Given the description of an element on the screen output the (x, y) to click on. 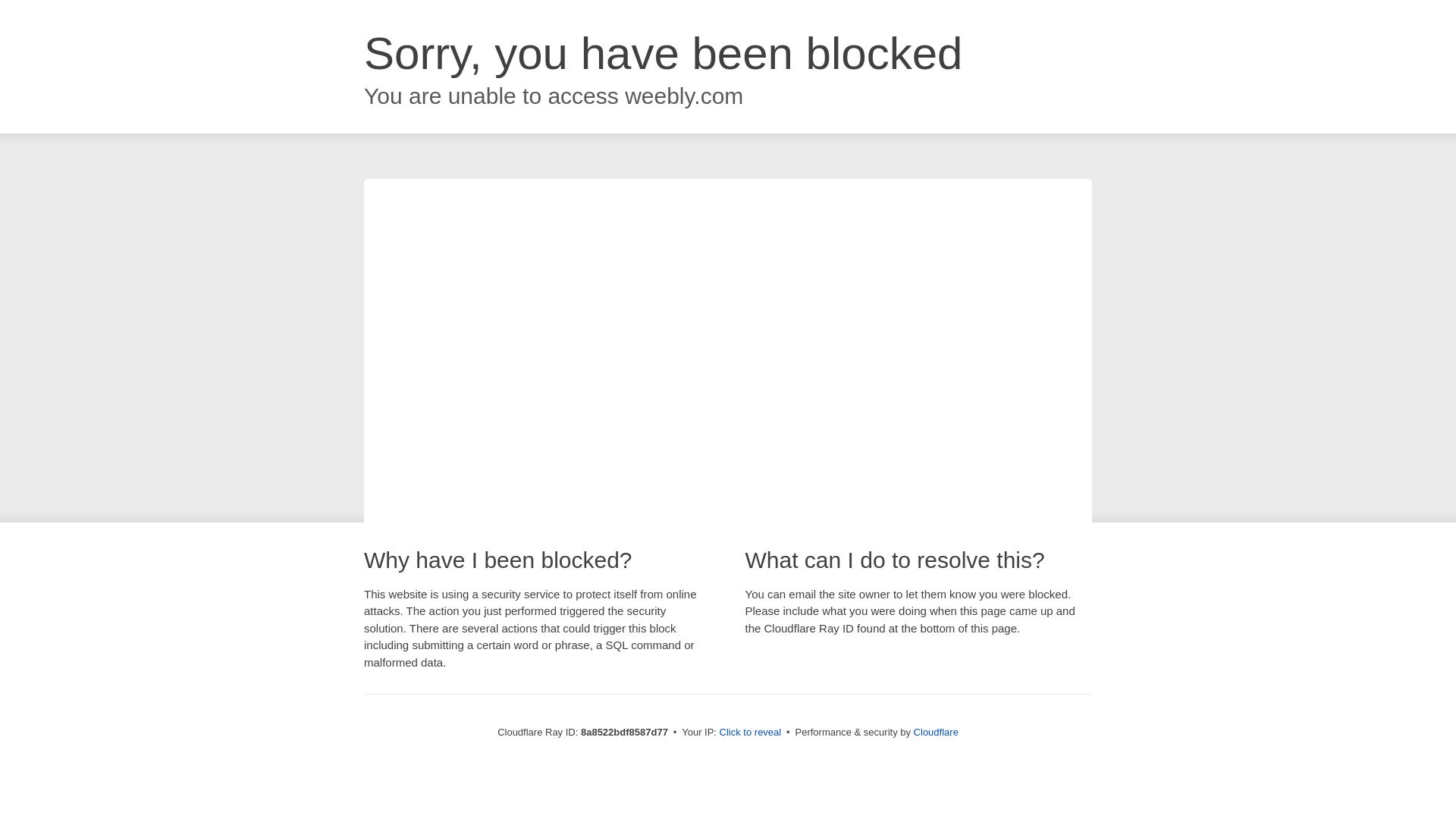
Click to reveal (750, 732)
Cloudflare (936, 731)
